Given the description of an element on the screen output the (x, y) to click on. 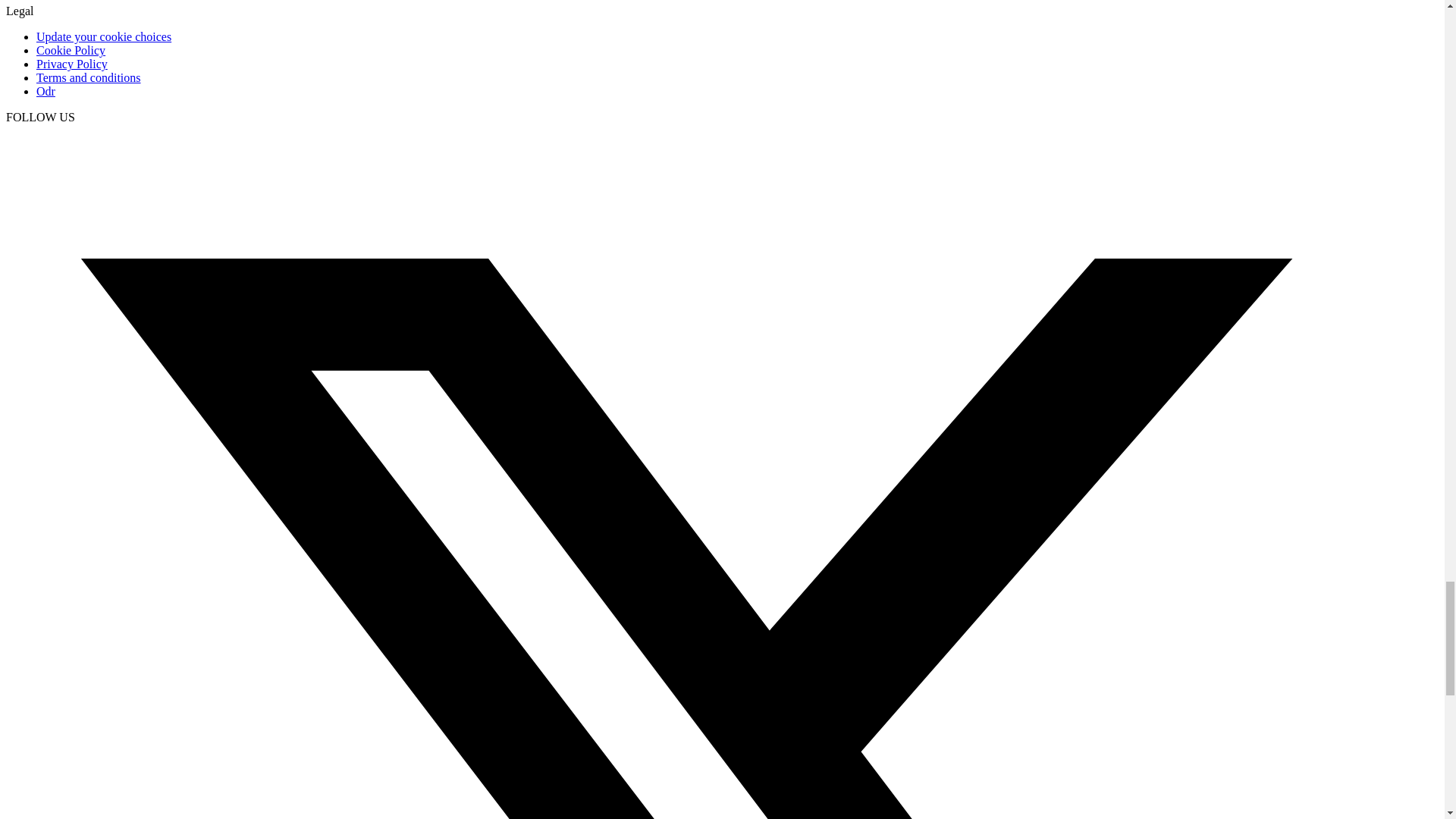
Aggiorna scelte cookie (103, 36)
Privacy Policy (71, 63)
Cookie Policy (70, 50)
Termini e condizioni (88, 77)
